Given the description of an element on the screen output the (x, y) to click on. 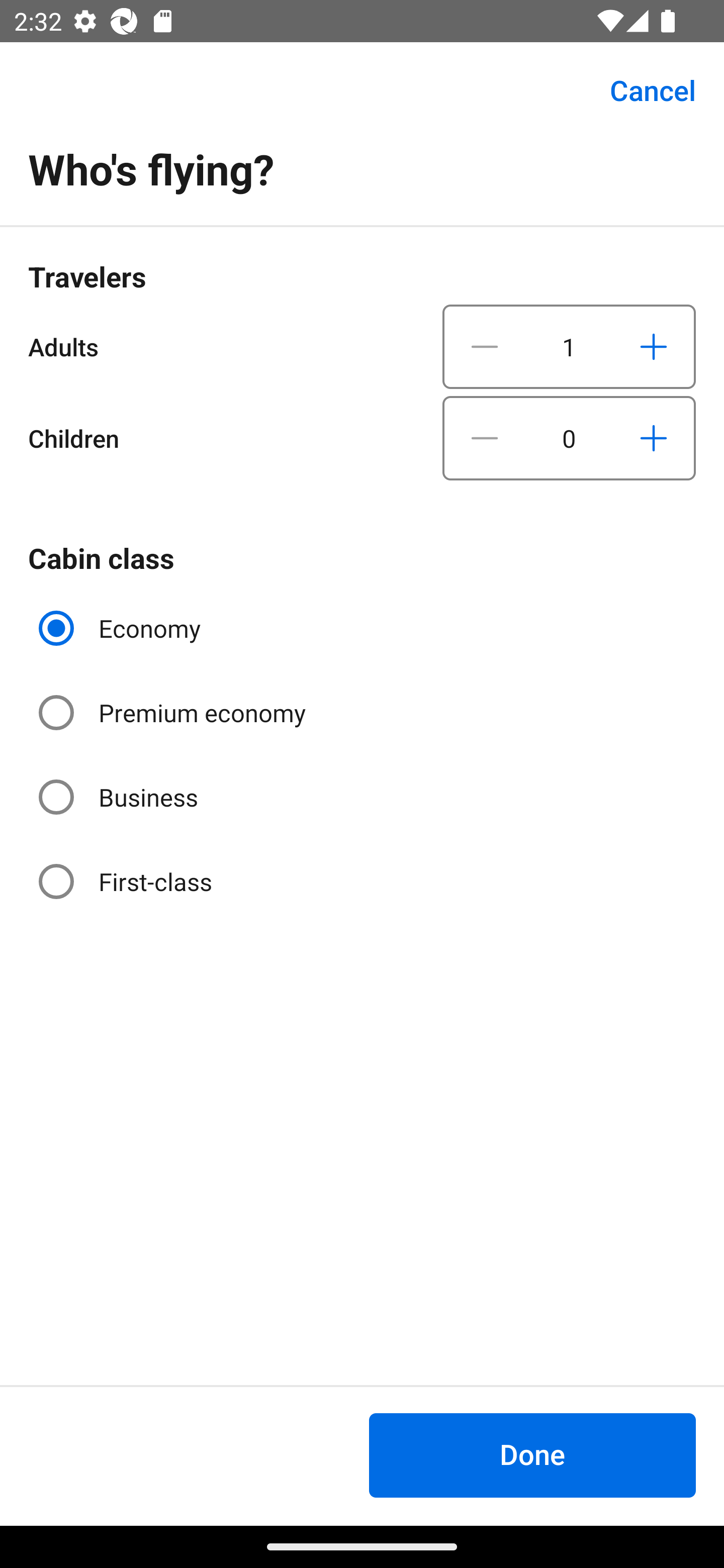
Cancel (641, 90)
Decrease (484, 346)
Increase (653, 346)
Decrease (484, 437)
Increase (653, 437)
Economy (121, 628)
Premium economy (174, 712)
Business (120, 796)
First-class (126, 880)
Done (532, 1454)
